Given the description of an element on the screen output the (x, y) to click on. 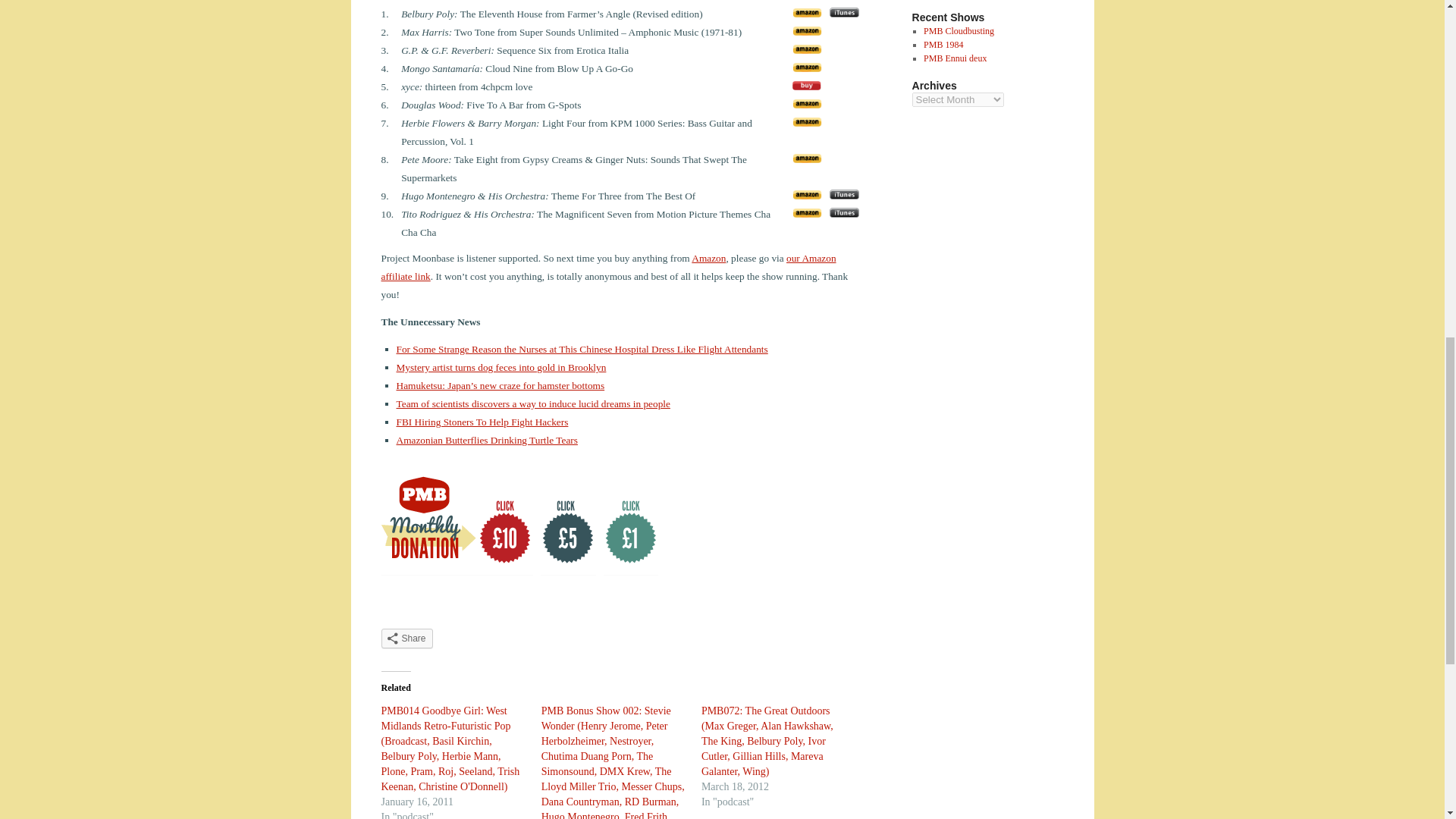
our Amazon affiliate link (607, 266)
Amazon (708, 257)
Mystery artist turns dog feces into gold in Brooklyn (500, 367)
